Given the description of an element on the screen output the (x, y) to click on. 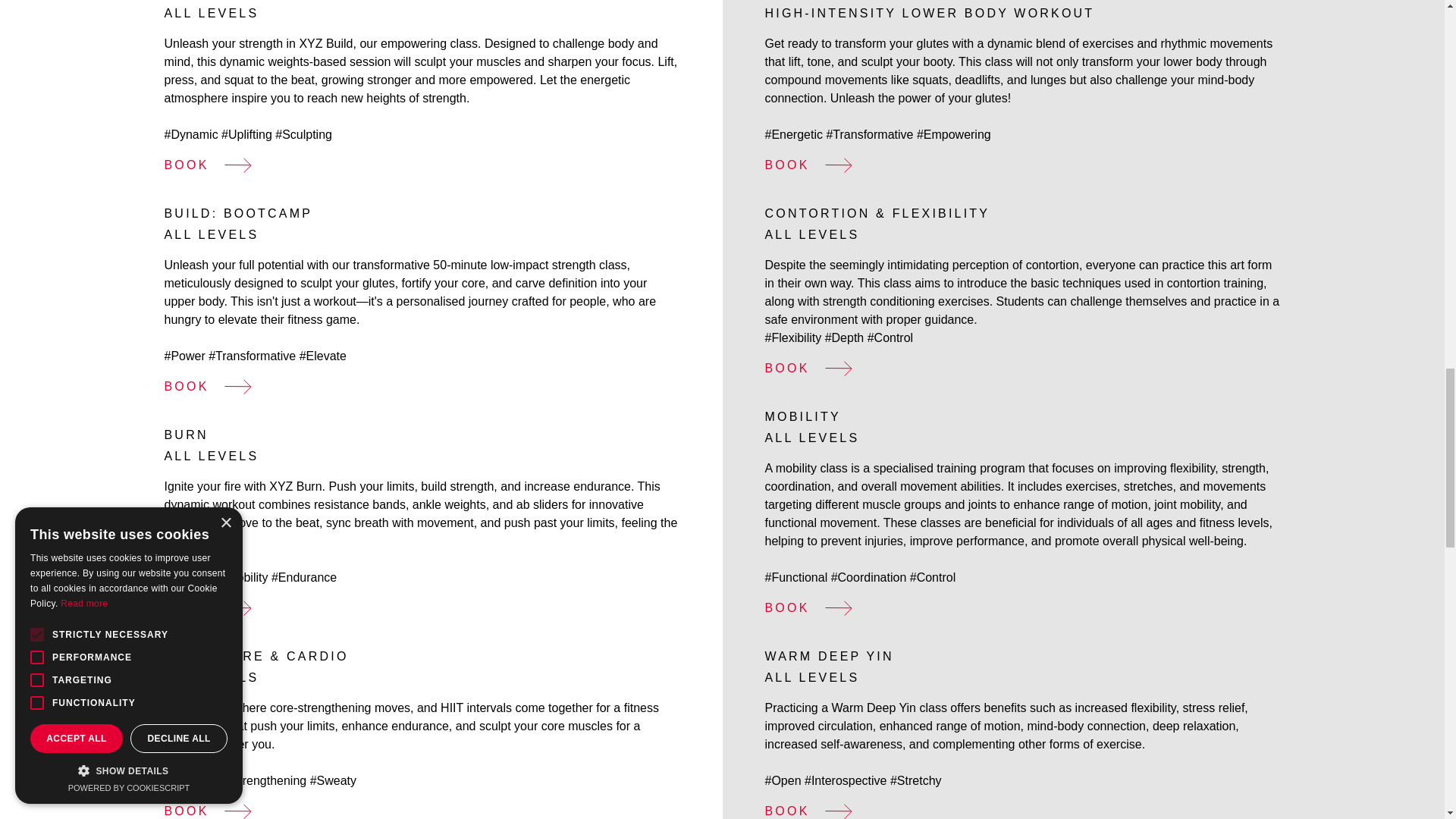
BOOK (214, 165)
BOOK (815, 607)
BOOK (214, 386)
BOOK (214, 607)
BOOK (214, 810)
BOOK (815, 368)
BOOK (815, 810)
BOOK (815, 165)
